Given the description of an element on the screen output the (x, y) to click on. 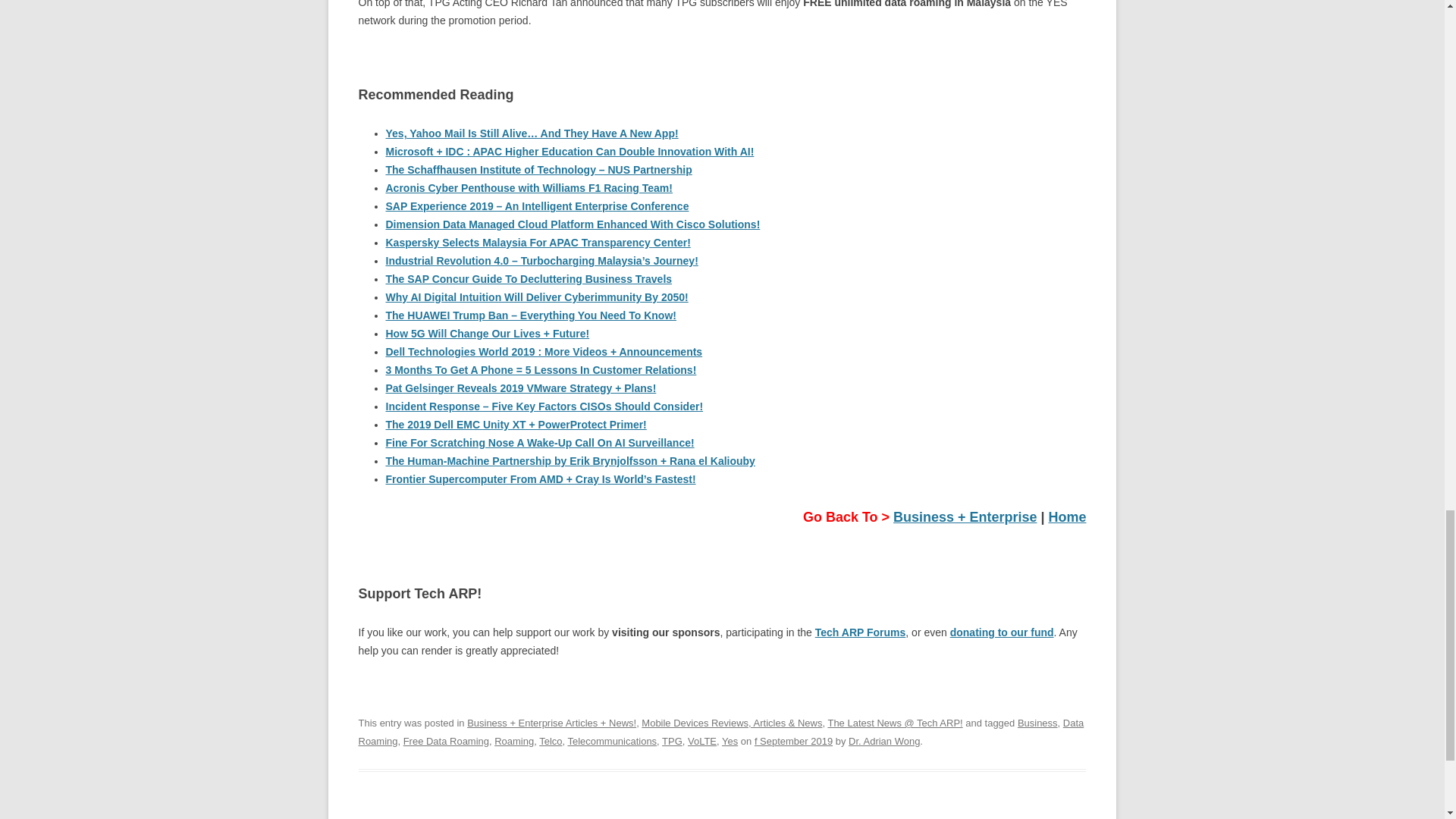
Fine For Scratching Nose A Wake-Up Call On AI Surveillance! (539, 442)
Why AI Digital Intuition Will Deliver Cyberimmunity By 2050! (536, 297)
donating to our fund (1002, 632)
Acronis Cyber Penthouse with Williams F1 Racing Team! (528, 187)
View all posts by Dr. Adrian Wong (884, 740)
Tech ARP Forums (860, 632)
12:12 pm (793, 740)
The SAP Concur Guide To Decluttering Business Travels (528, 278)
Kaspersky Selects Malaysia For APAC Transparency Center! (537, 242)
